Given the description of an element on the screen output the (x, y) to click on. 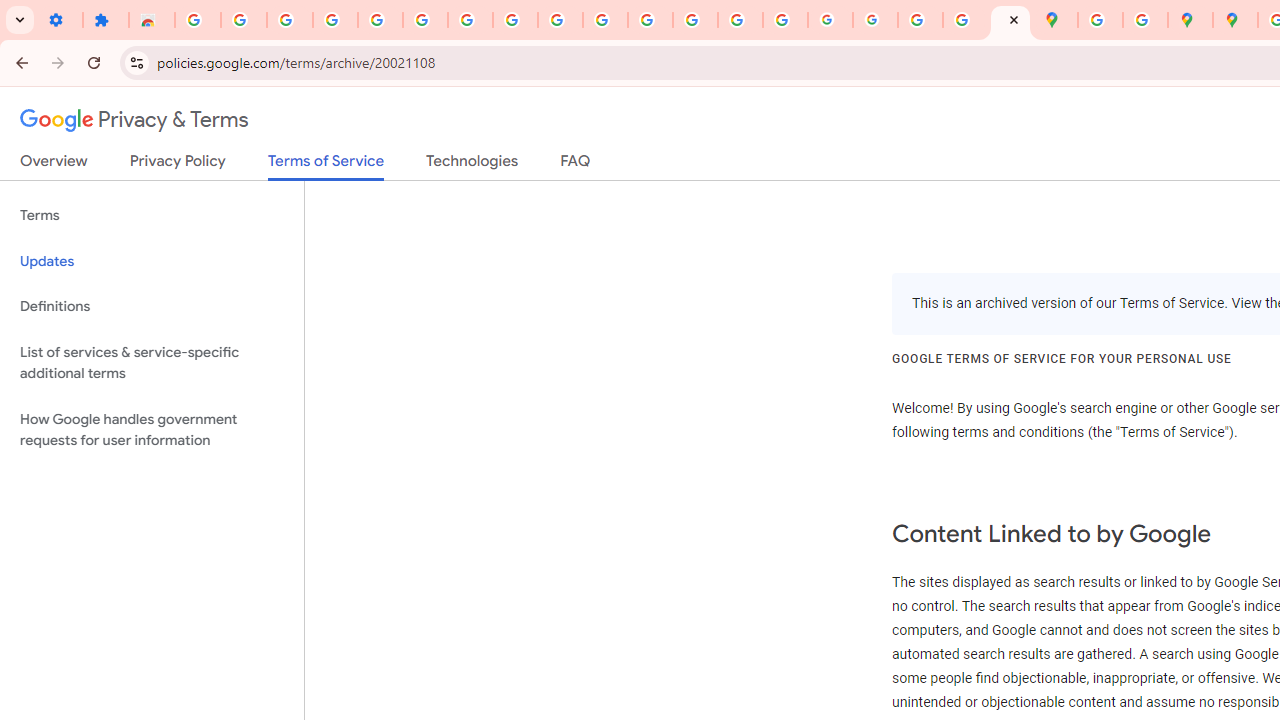
Delete photos & videos - Computer - Google Photos Help (290, 20)
Privacy Policy (177, 165)
